Given the description of an element on the screen output the (x, y) to click on. 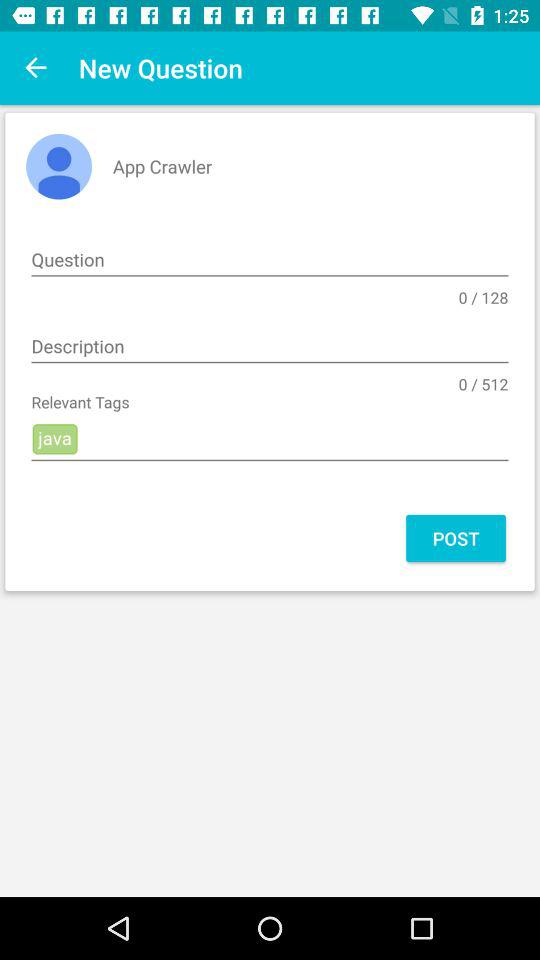
open the item above the 0 / 128 app (269, 260)
